Given the description of an element on the screen output the (x, y) to click on. 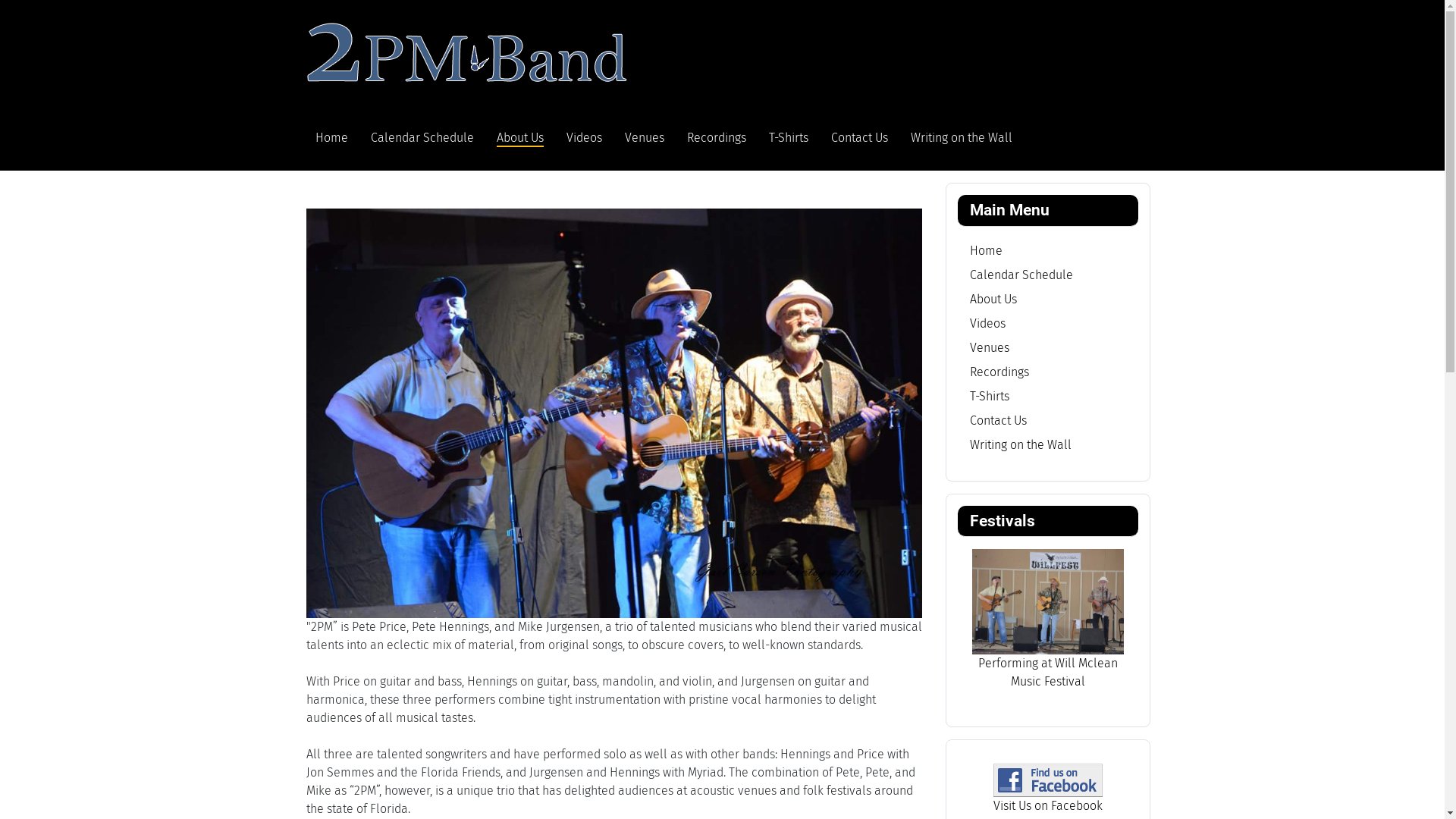
Videos Element type: text (583, 137)
Venues Element type: text (644, 137)
Home Element type: text (331, 137)
Writing on the Wall Element type: text (1019, 444)
T-Shirts Element type: text (988, 396)
Recordings Element type: text (998, 371)
Recordings Element type: text (716, 137)
Music Festival Element type: text (1047, 681)
Venues Element type: text (988, 347)
Contact Us Element type: text (859, 137)
Home Element type: text (985, 250)
Videos Element type: text (986, 323)
About Us Element type: text (518, 137)
About Us Element type: text (992, 298)
T-Shirts Element type: text (788, 137)
Writing on the Wall Element type: text (960, 137)
Calendar Schedule Element type: text (421, 137)
Visit Us on Facebook Element type: text (1047, 805)
Contact Us Element type: text (997, 420)
Performing at Will Mclean Element type: text (1047, 662)
Calendar Schedule Element type: text (1020, 274)
